Given the description of an element on the screen output the (x, y) to click on. 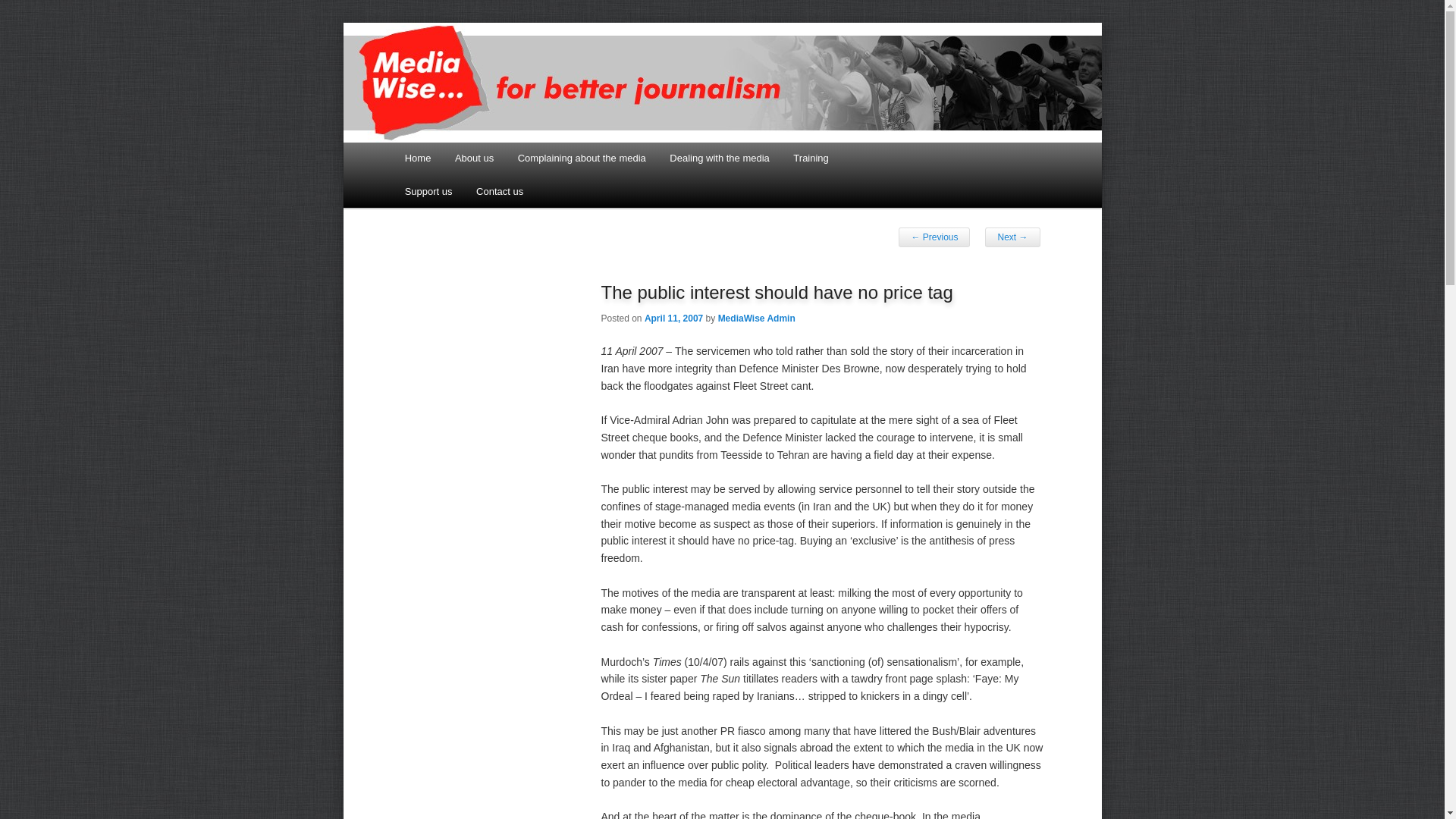
Training (811, 157)
10:04 am (674, 317)
Complaining about the media (581, 157)
MediaWise Admin (755, 317)
Skip to secondary content (479, 41)
About us (473, 157)
Skip to secondary content (479, 160)
April 11, 2007 (674, 317)
Search (21, 11)
MediaWise (452, 54)
Skip to secondary content (479, 41)
Skip to primary content (472, 41)
Home (417, 157)
Support us (428, 191)
Contact us (499, 191)
